Given the description of an element on the screen output the (x, y) to click on. 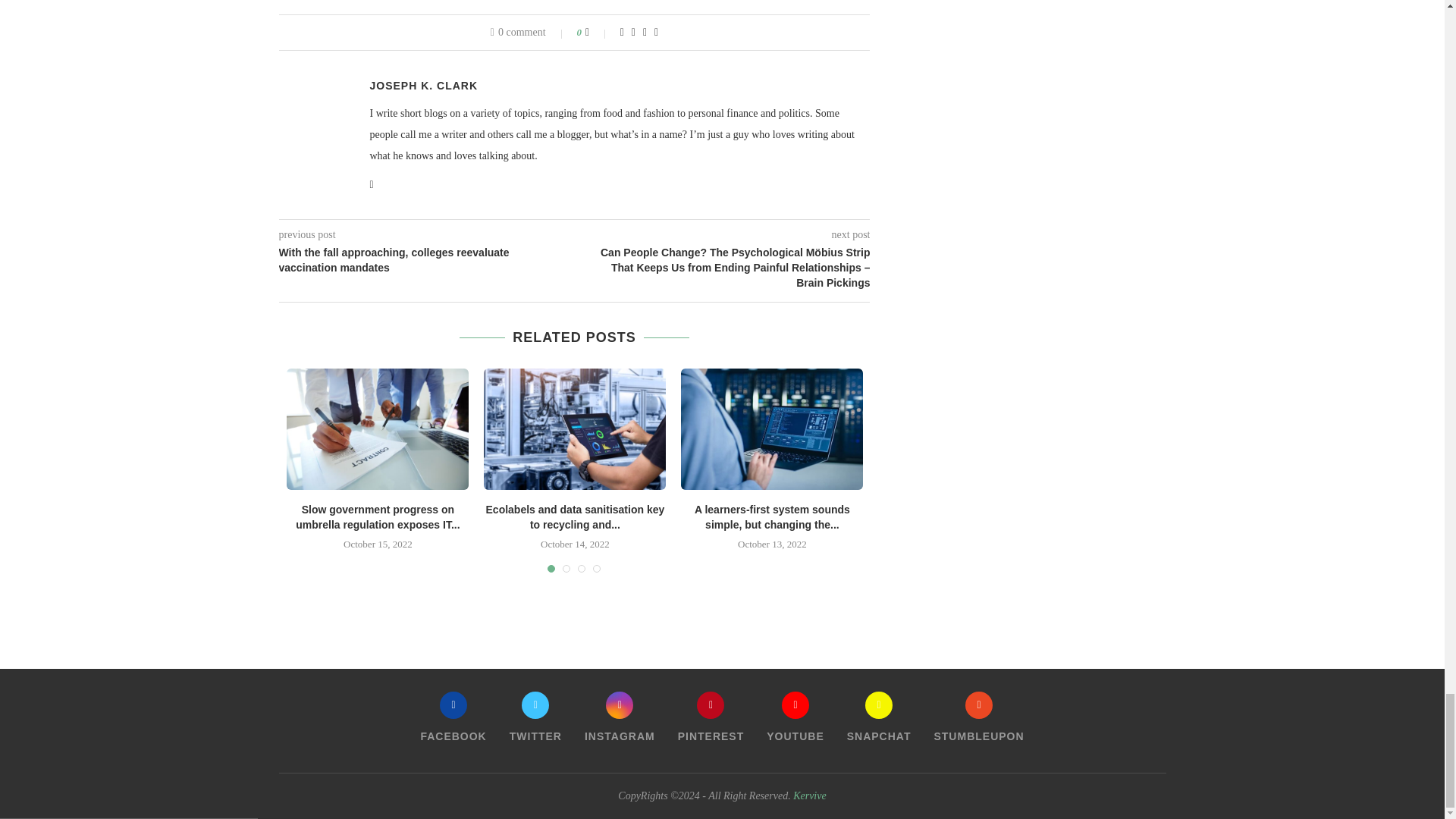
Posts by Joseph K. Clark (424, 85)
Like (597, 32)
